Given the description of an element on the screen output the (x, y) to click on. 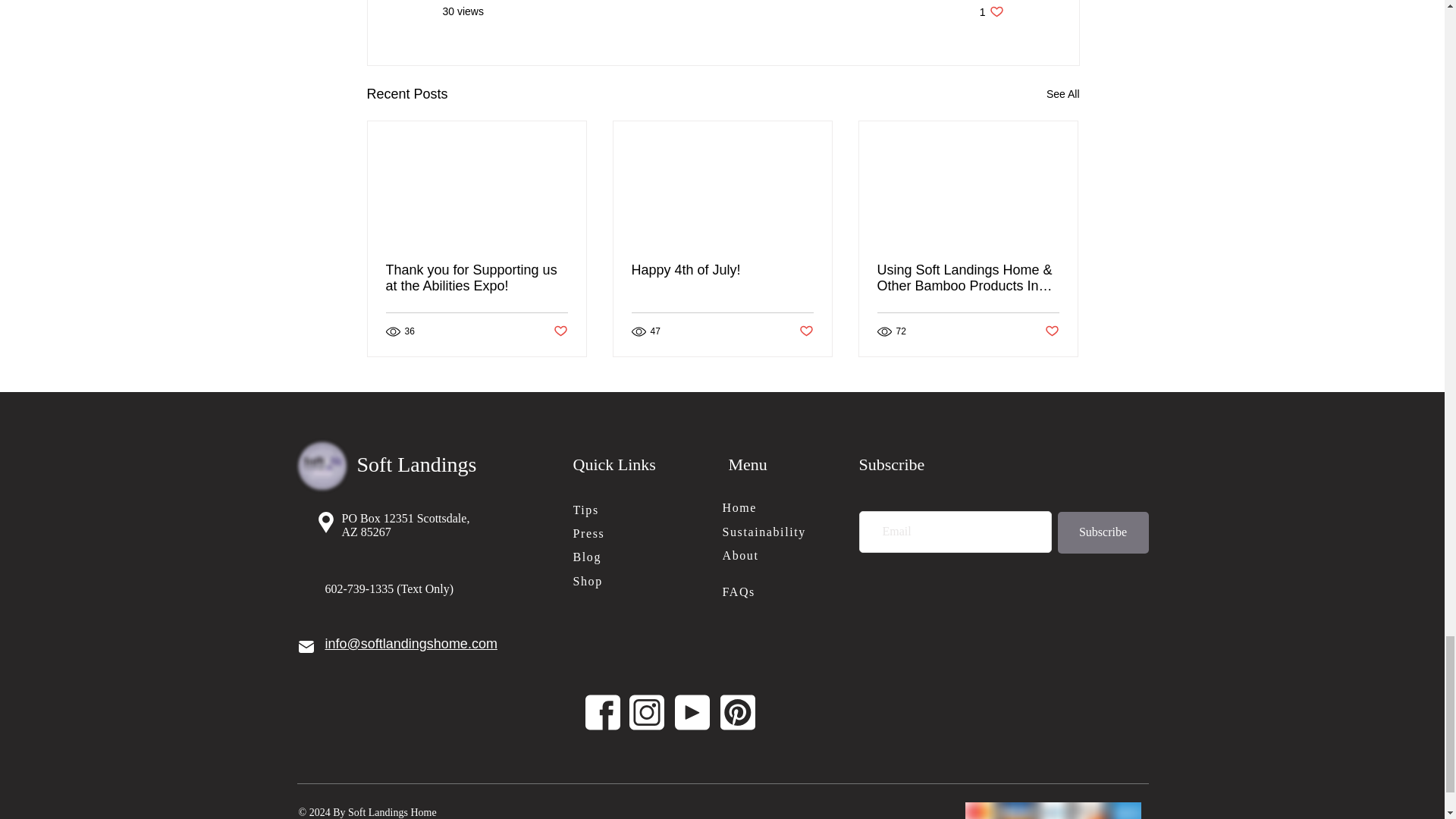
Post not marked as liked (1052, 330)
Post not marked as liked (806, 330)
See All (1063, 94)
Post not marked as liked (560, 330)
Happy 4th of July! (991, 11)
Thank you for Supporting us at the Abilities Expo! (721, 270)
